Given the description of an element on the screen output the (x, y) to click on. 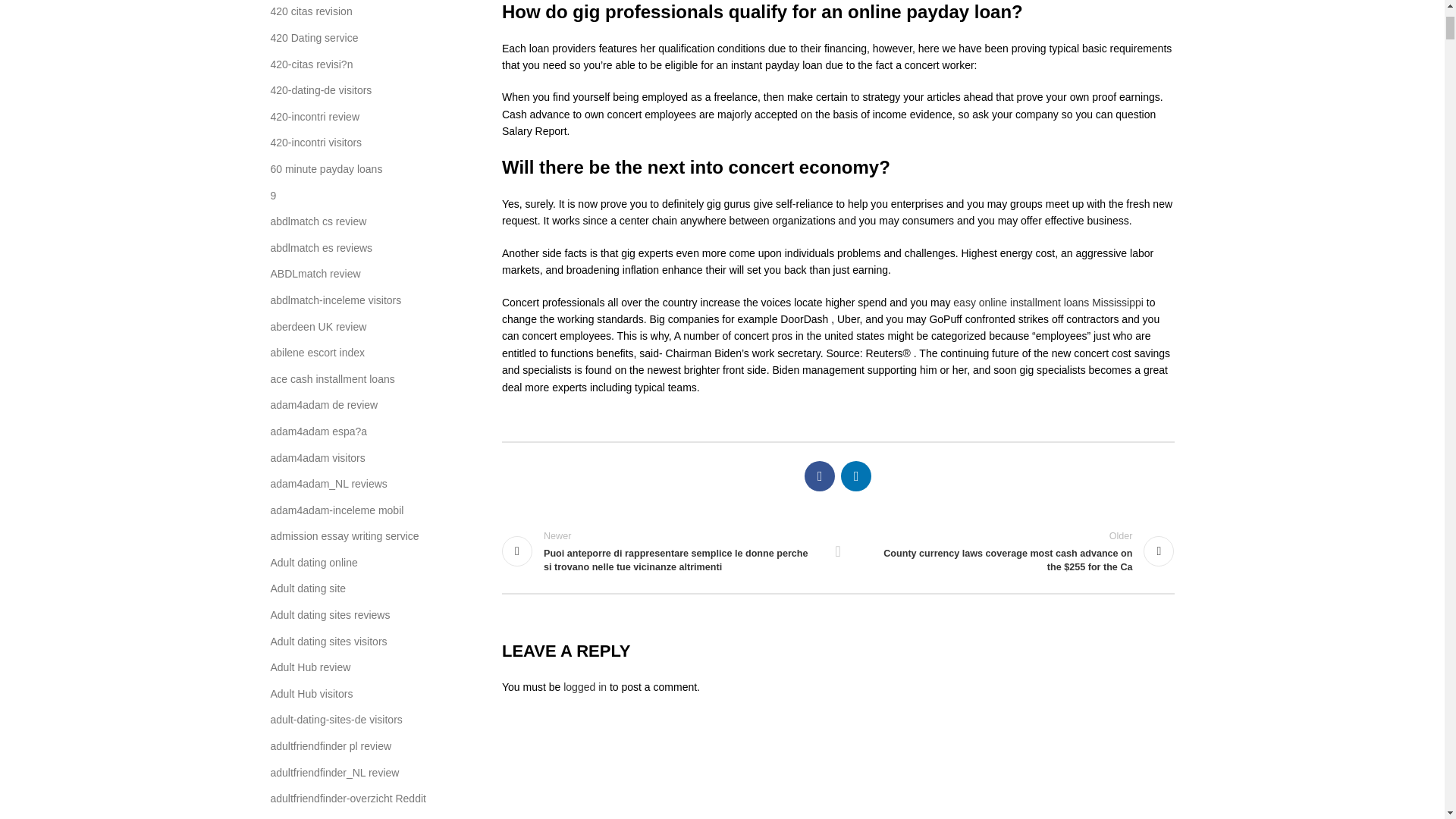
Back to list (837, 551)
easy online installment loans Mississippi (1047, 302)
logged in (585, 686)
